Given the description of an element on the screen output the (x, y) to click on. 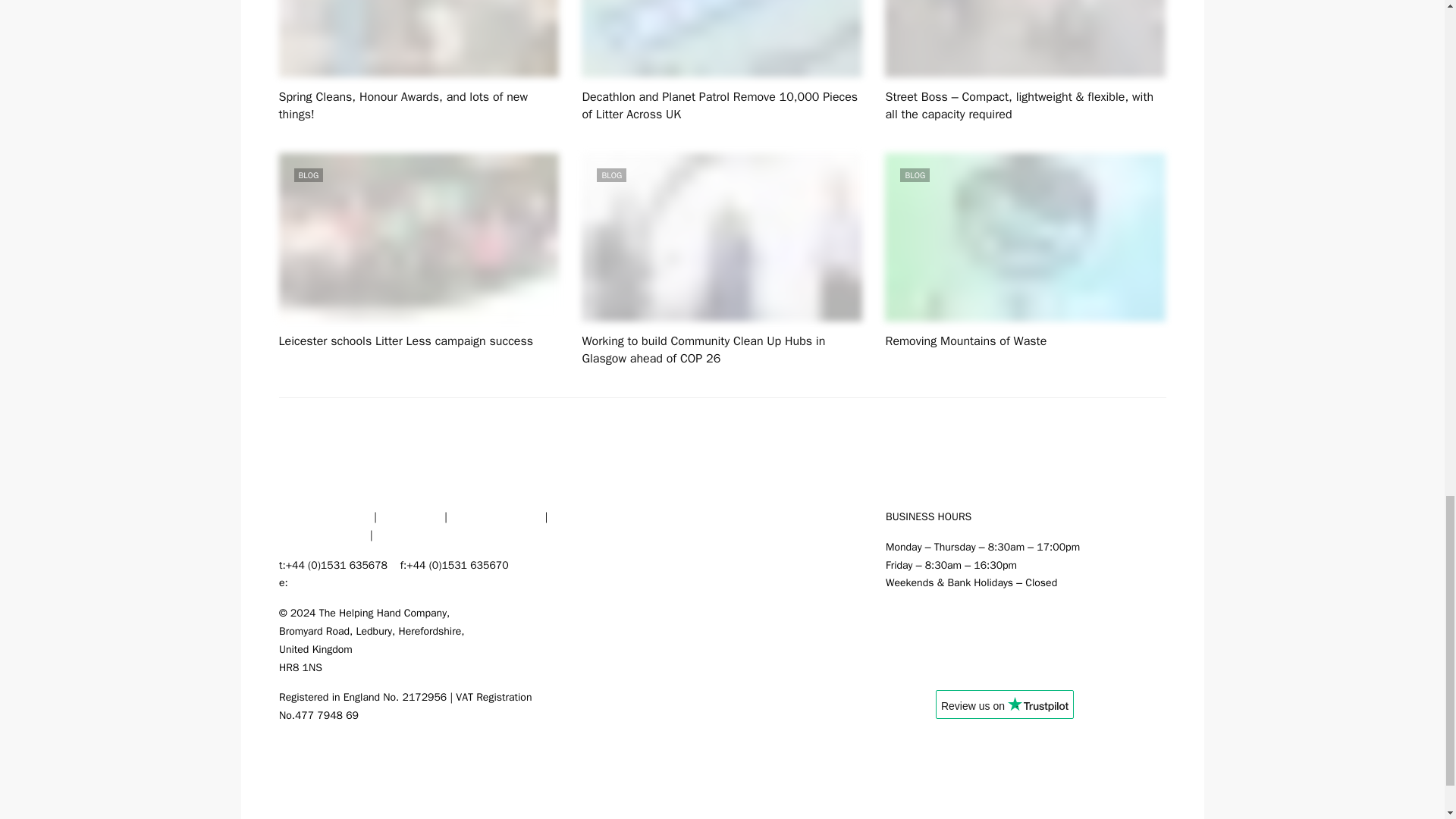
Leicester schools Litter Less campaign success (406, 340)
Removing Mountains of Waste (1025, 237)
Leicester schools Litter Less campaign success (419, 237)
Spring Cleans, Honour Awards, and lots of new things! (419, 38)
Spring Cleans, Honour Awards, and lots of new things! (403, 105)
